Given the description of an element on the screen output the (x, y) to click on. 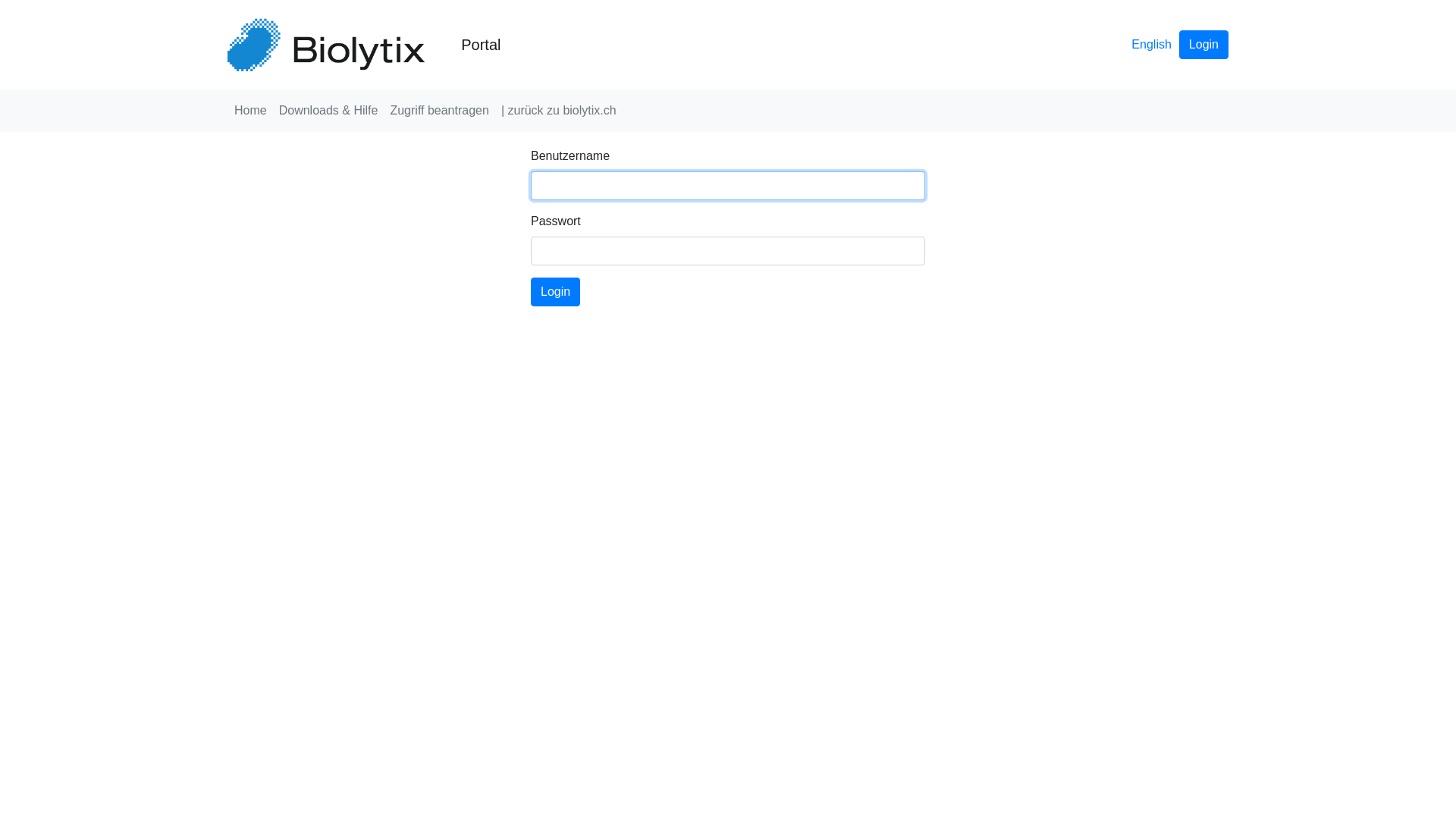
Downloads & Hilfe Element type: text (328, 110)
Home Element type: text (250, 110)
Login Element type: text (1203, 44)
Portal Element type: text (467, 44)
Login Element type: text (555, 291)
English Element type: text (1150, 44)
Zugriff beantragen Element type: text (438, 110)
